Given the description of an element on the screen output the (x, y) to click on. 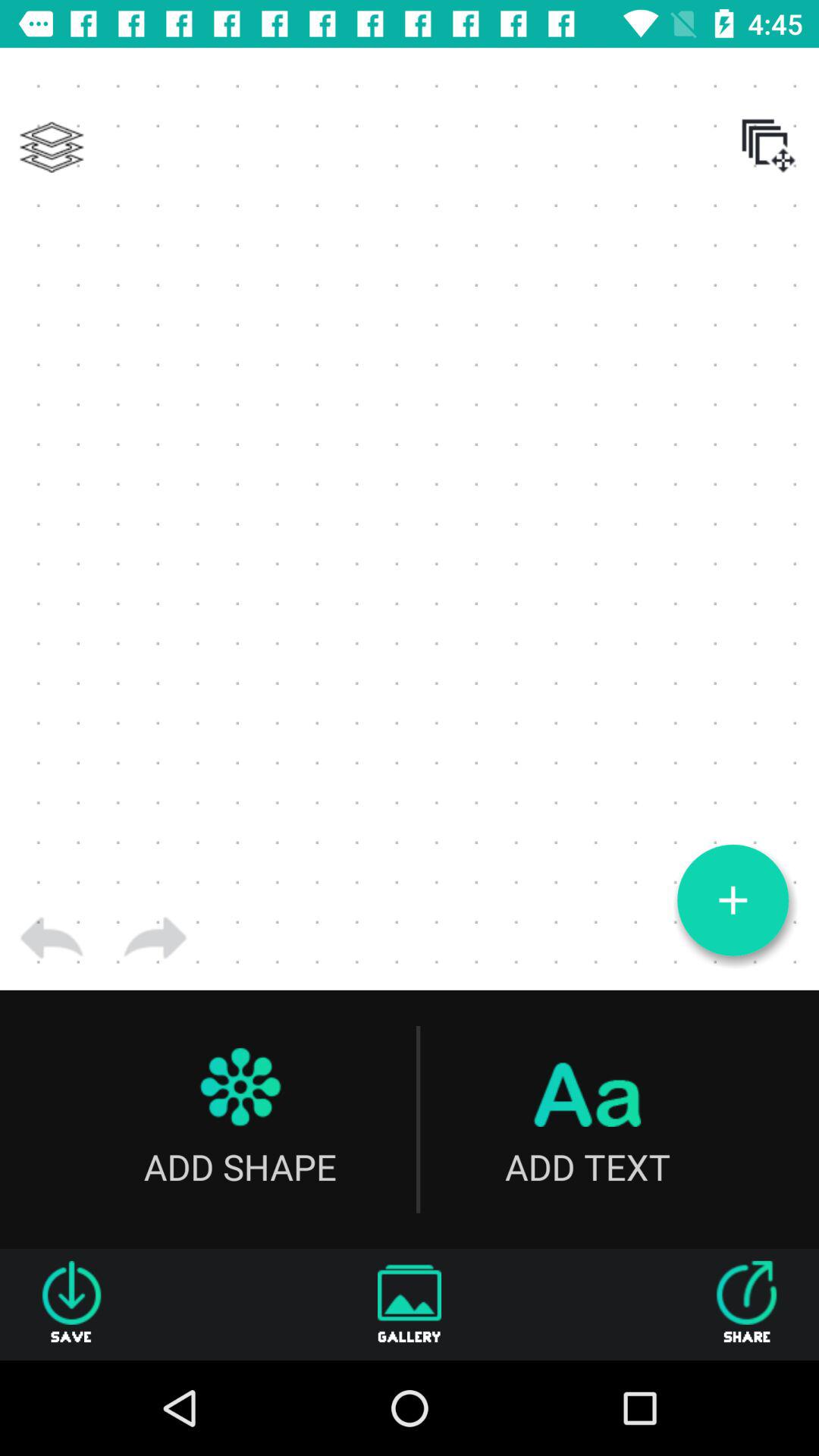
select item to the right of the save item (409, 1304)
